Given the description of an element on the screen output the (x, y) to click on. 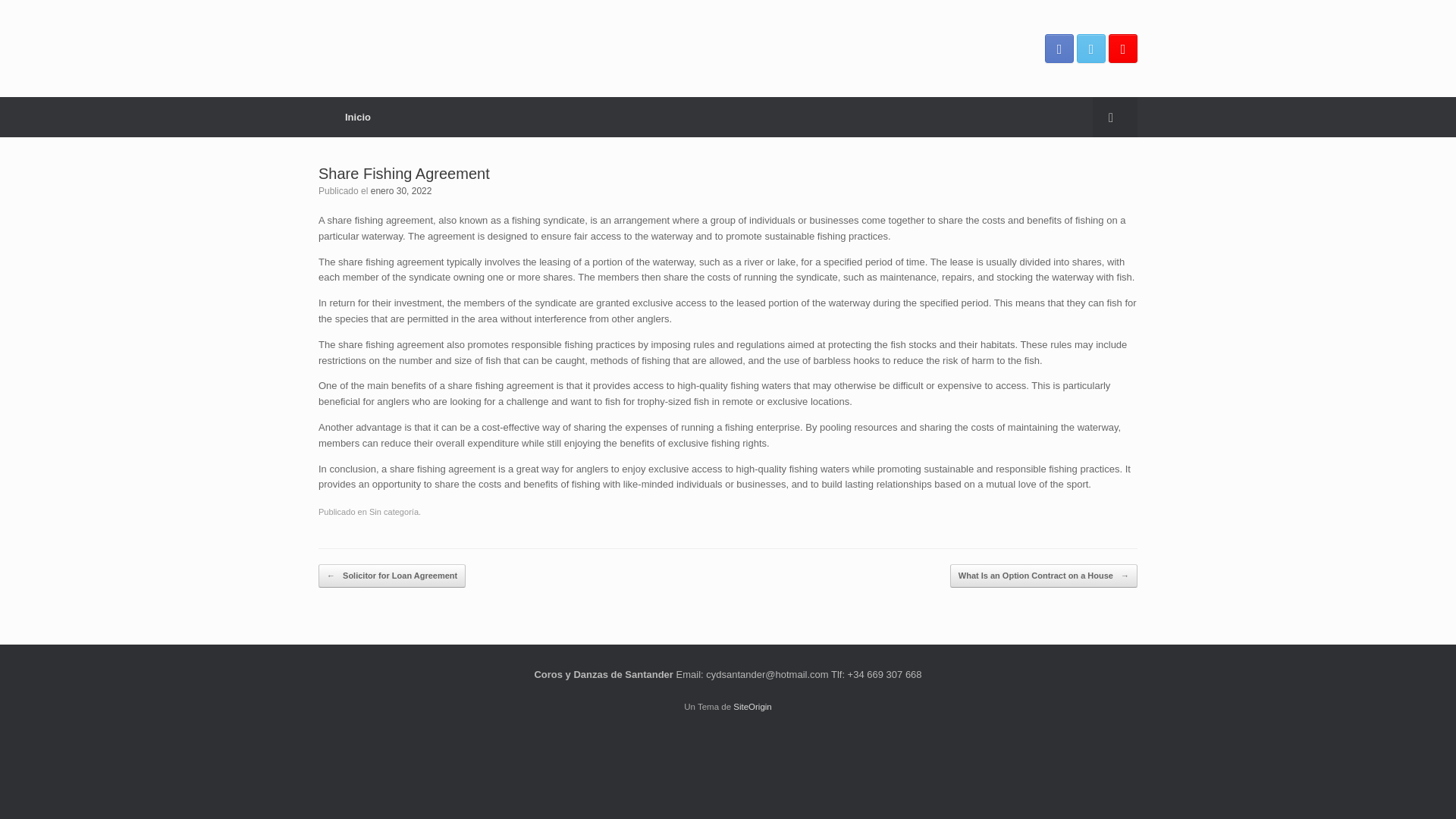
Inicio (357, 117)
enero 30, 2022 (401, 190)
Coros y Danzas de Santander Facebook (1059, 48)
8:57 am (401, 190)
Coros y Danzas de Santander Twitter (1091, 48)
Coros y Danzas de Santander Google Plus (1122, 48)
SiteOrigin (752, 706)
